Given the description of an element on the screen output the (x, y) to click on. 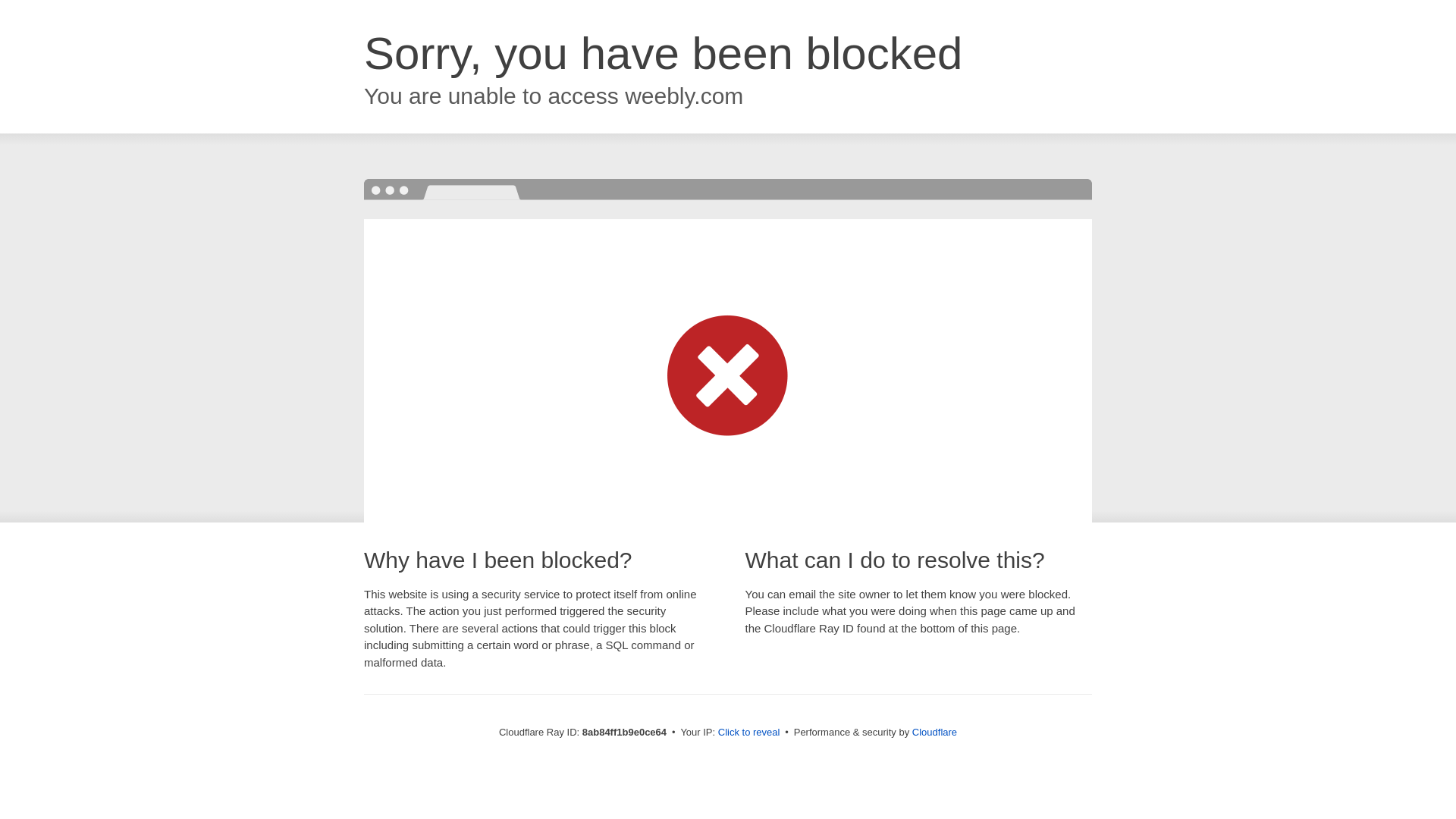
Cloudflare (934, 731)
Click to reveal (748, 732)
